Given the description of an element on the screen output the (x, y) to click on. 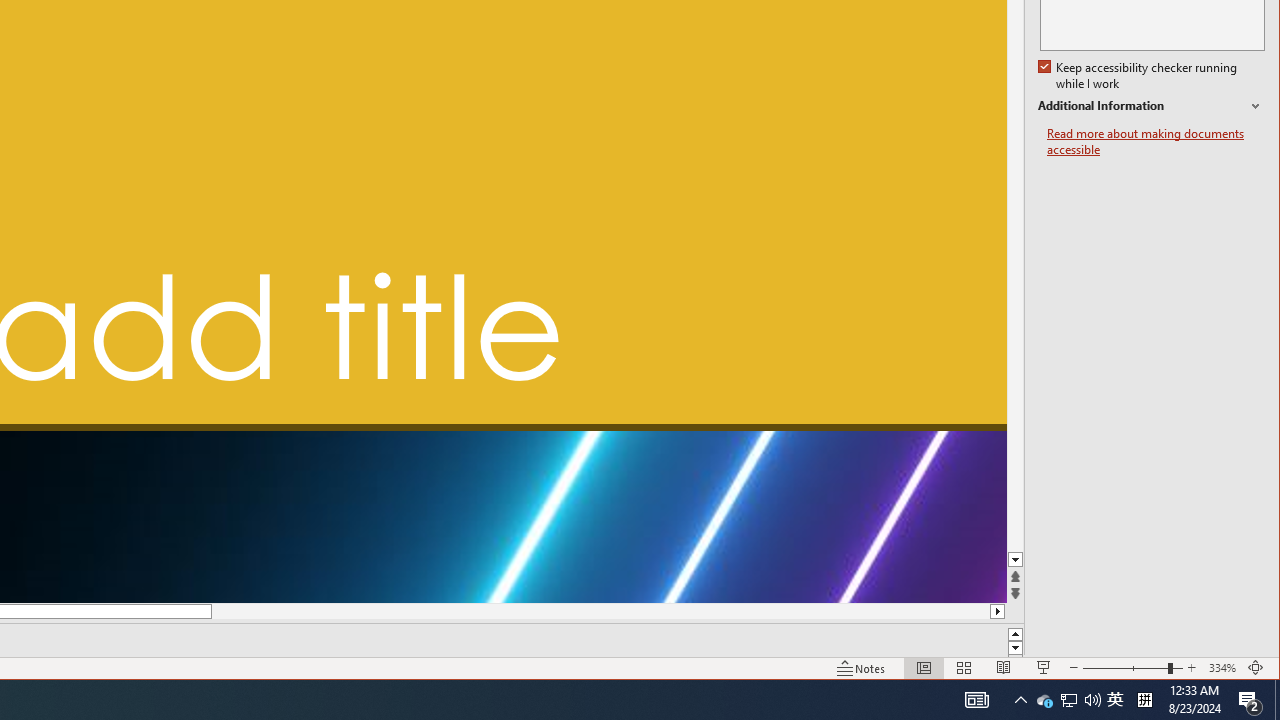
Keep accessibility checker running while I work (1139, 76)
Additional Information (1151, 106)
Read more about making documents accessible (1044, 699)
